Given the description of an element on the screen output the (x, y) to click on. 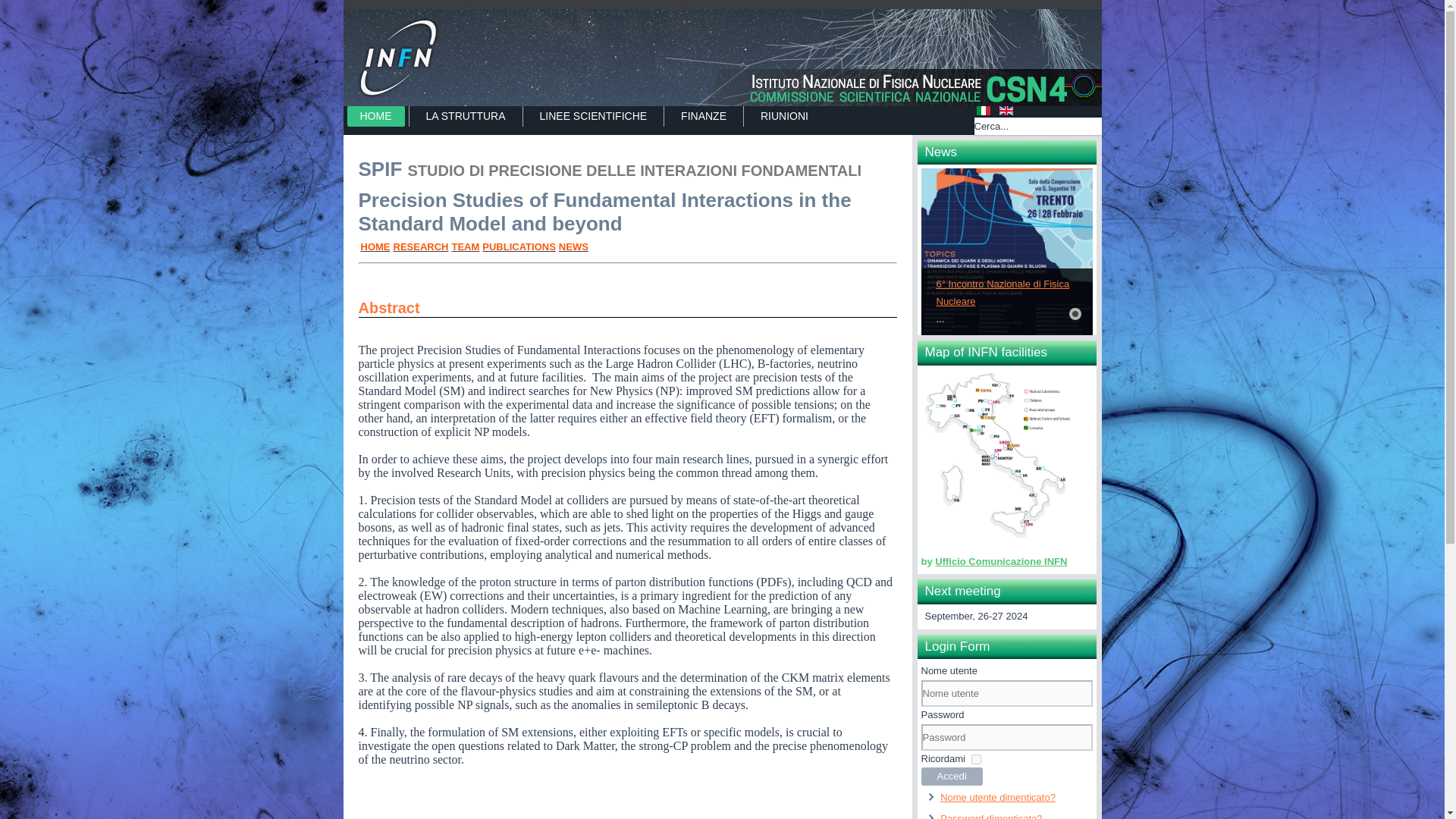
Accedi (950, 776)
Cerca... (1037, 126)
HOME (375, 116)
PUBLICATIONS (518, 246)
HOME (375, 246)
LINEE SCIENTIFICHE (594, 116)
Ufficio Comunicazione INFN (1000, 561)
NEWS (573, 246)
Password dimenticata? (991, 816)
RIUNIONI (784, 116)
FINANZE (703, 116)
Italiano (983, 110)
yes (976, 759)
TEAM (465, 246)
Nome utente dimenticato? (997, 797)
